Given the description of an element on the screen output the (x, y) to click on. 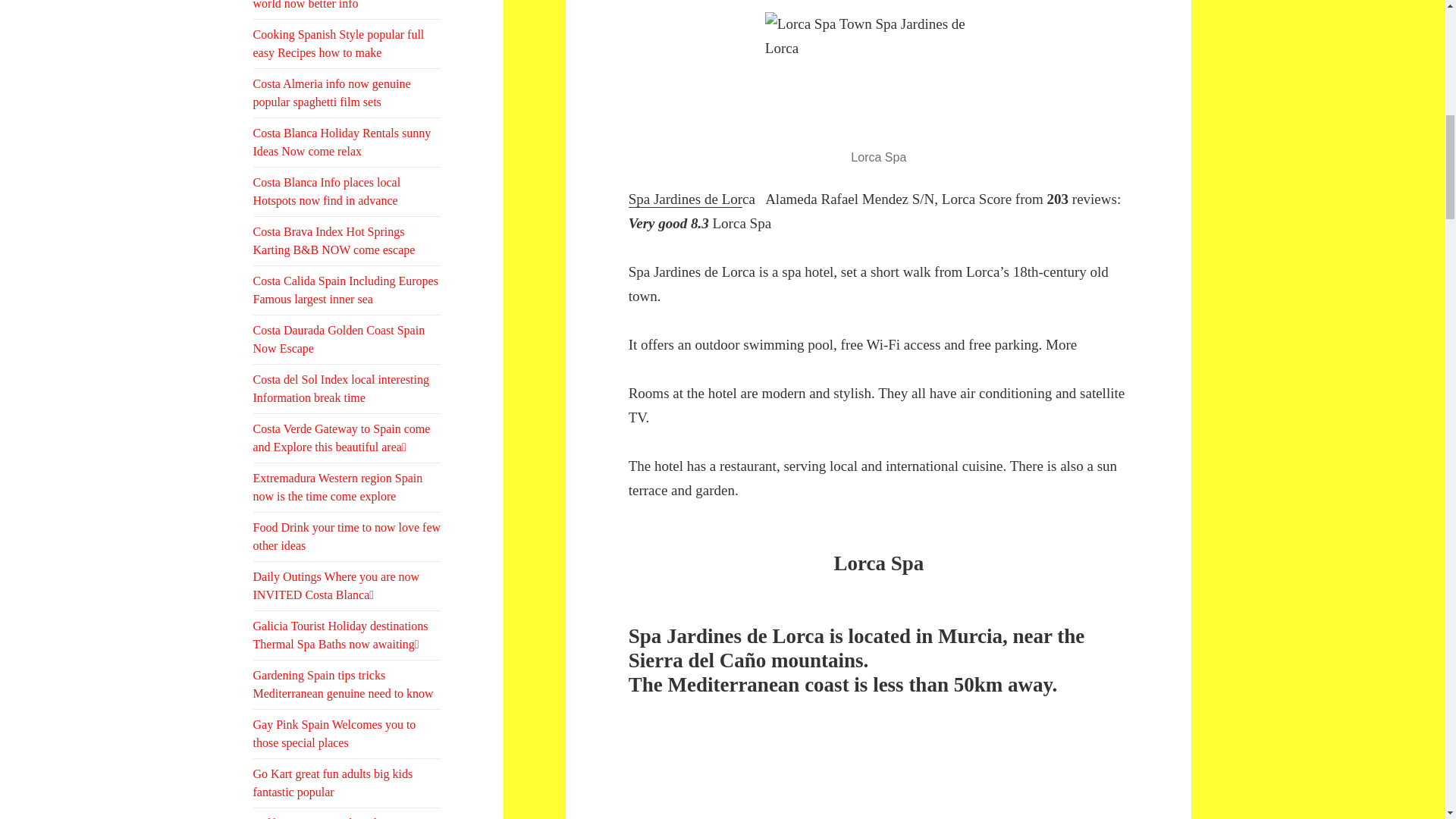
Costa Almeria info now genuine popular spaghetti film sets (347, 92)
Food Drink your time to now love few other ideas (347, 536)
Cooking Spanish Style popular full easy Recipes how to make (347, 43)
Cookery Holidays from across the world now better info (347, 9)
Costa del Sol Index local interesting Information break time (347, 388)
Gay Pink Spain Welcomes you to those special places (347, 734)
